Given the description of an element on the screen output the (x, y) to click on. 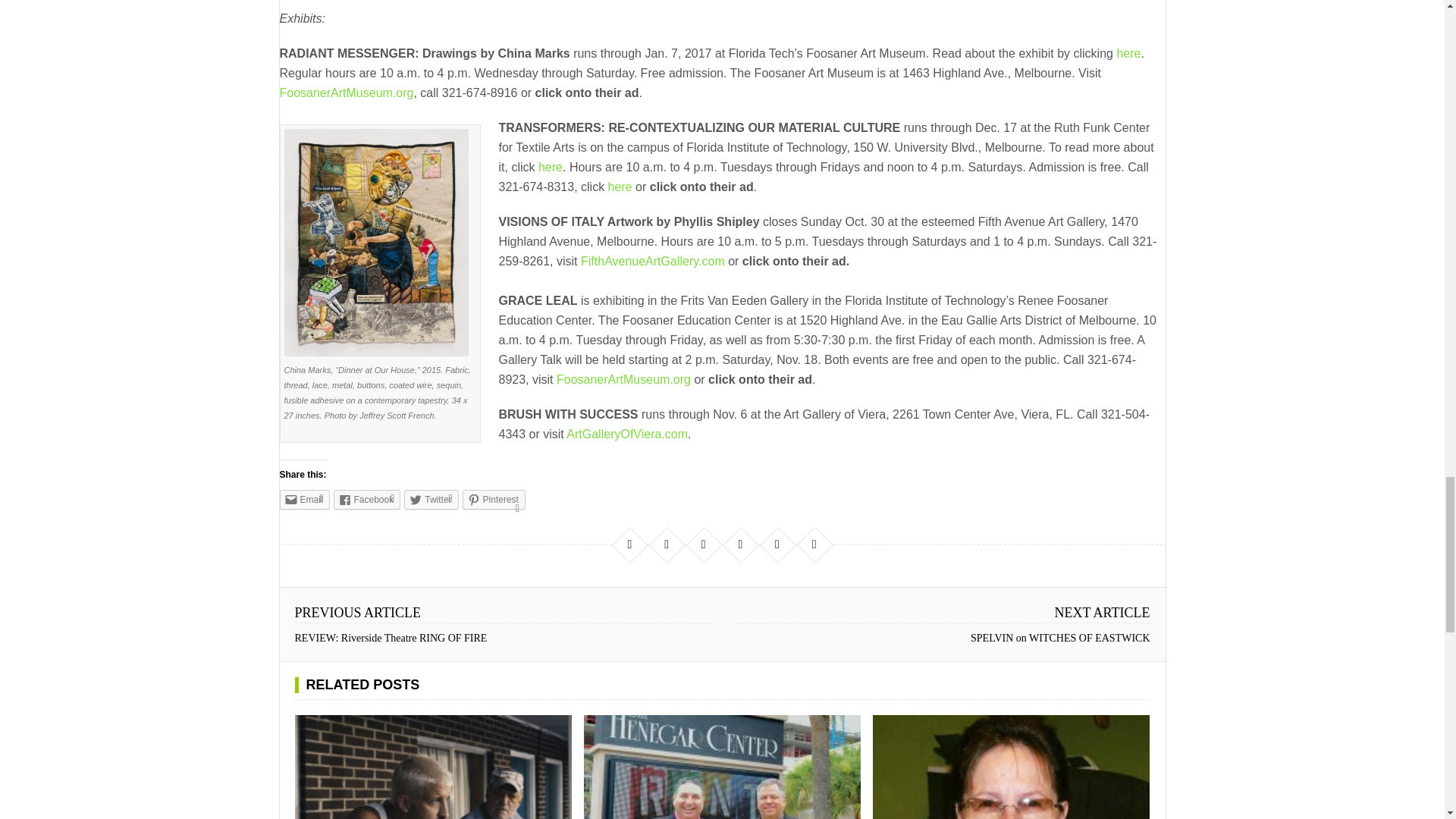
here (619, 186)
Click to email this to a friend (304, 499)
Pinterest (494, 499)
Twitter (431, 499)
Click to share on Facebook (367, 499)
FoosanerArtMuseum.org (346, 92)
here (1128, 52)
Click to share on Pinterest (494, 499)
here (550, 166)
FoosanerArtMuseum.org (623, 379)
HENEGAR and TITUSVILLE PLAYHOUSE split (721, 766)
FifthAvenueArtGallery.com (652, 260)
Click to share on Twitter (431, 499)
Film Features Area Attorney ALLAN WHITEHEAD and Son (432, 766)
ArtGalleryOfViera.com (626, 433)
